Given the description of an element on the screen output the (x, y) to click on. 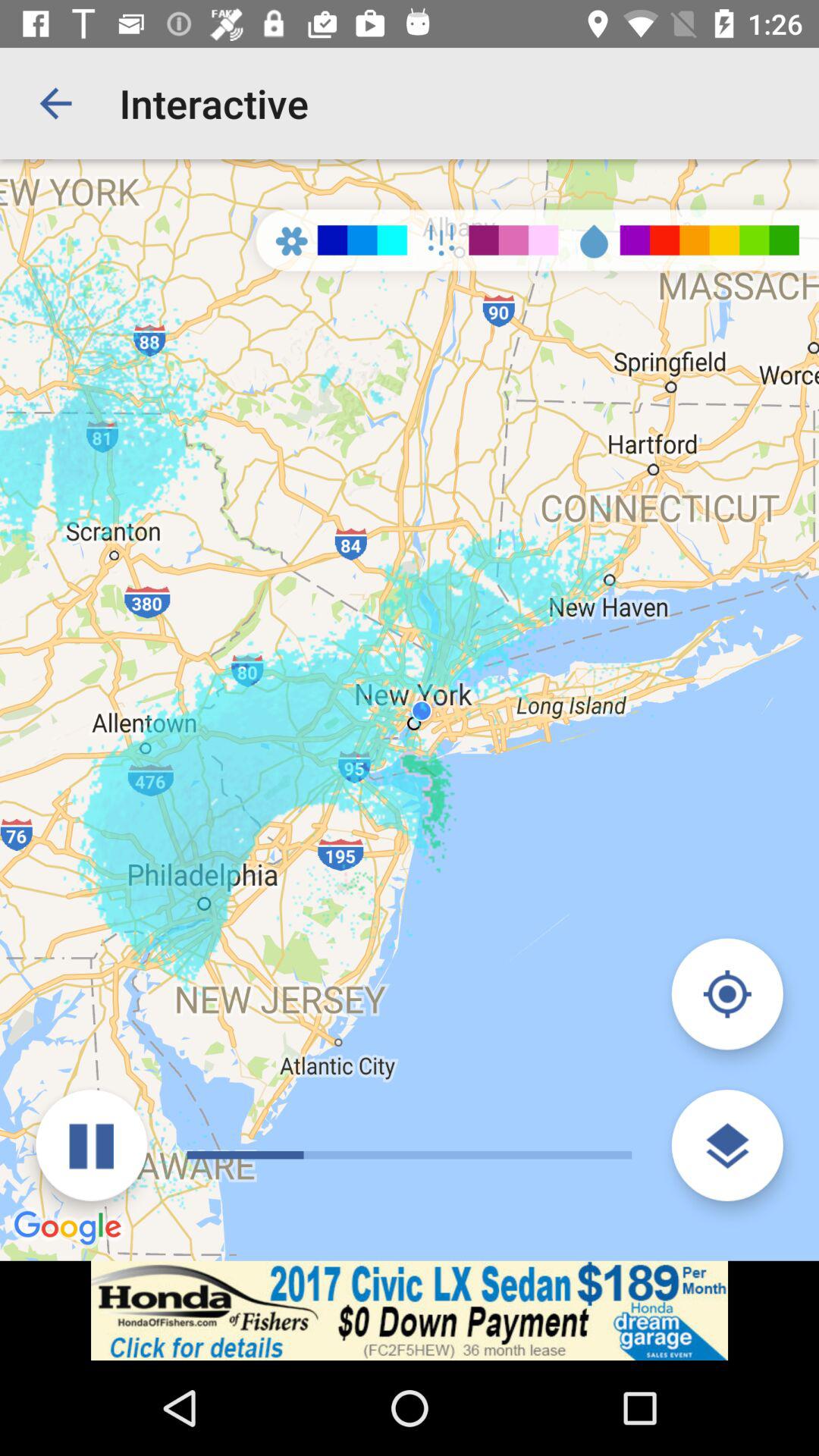
navigate to the nearest map (727, 993)
